Given the description of an element on the screen output the (x, y) to click on. 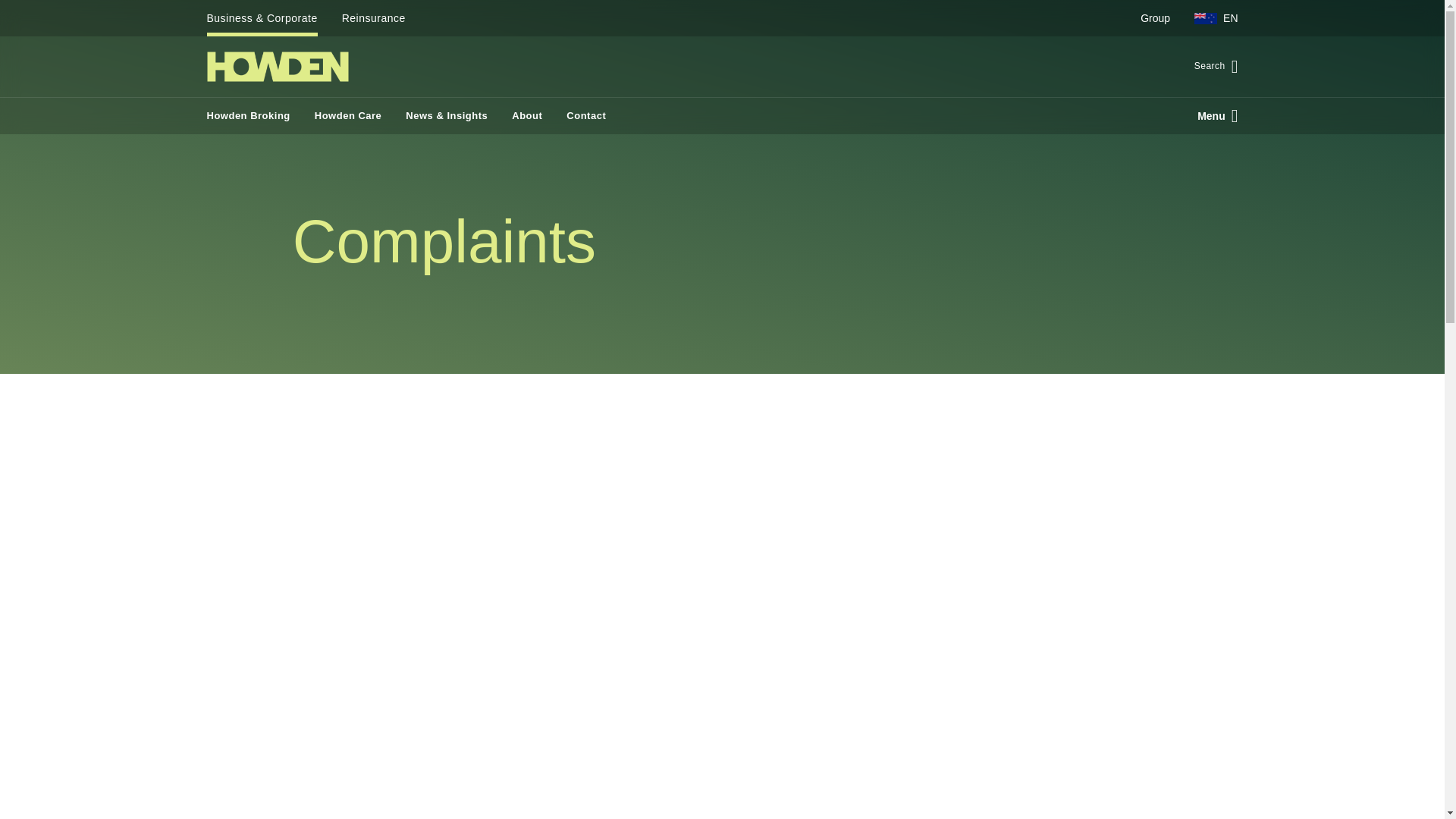
Howden Broking Group (276, 66)
Search (1210, 66)
Menu (1211, 115)
Reinsurance (373, 18)
EN (1209, 18)
Group (1155, 18)
